Given the description of an element on the screen output the (x, y) to click on. 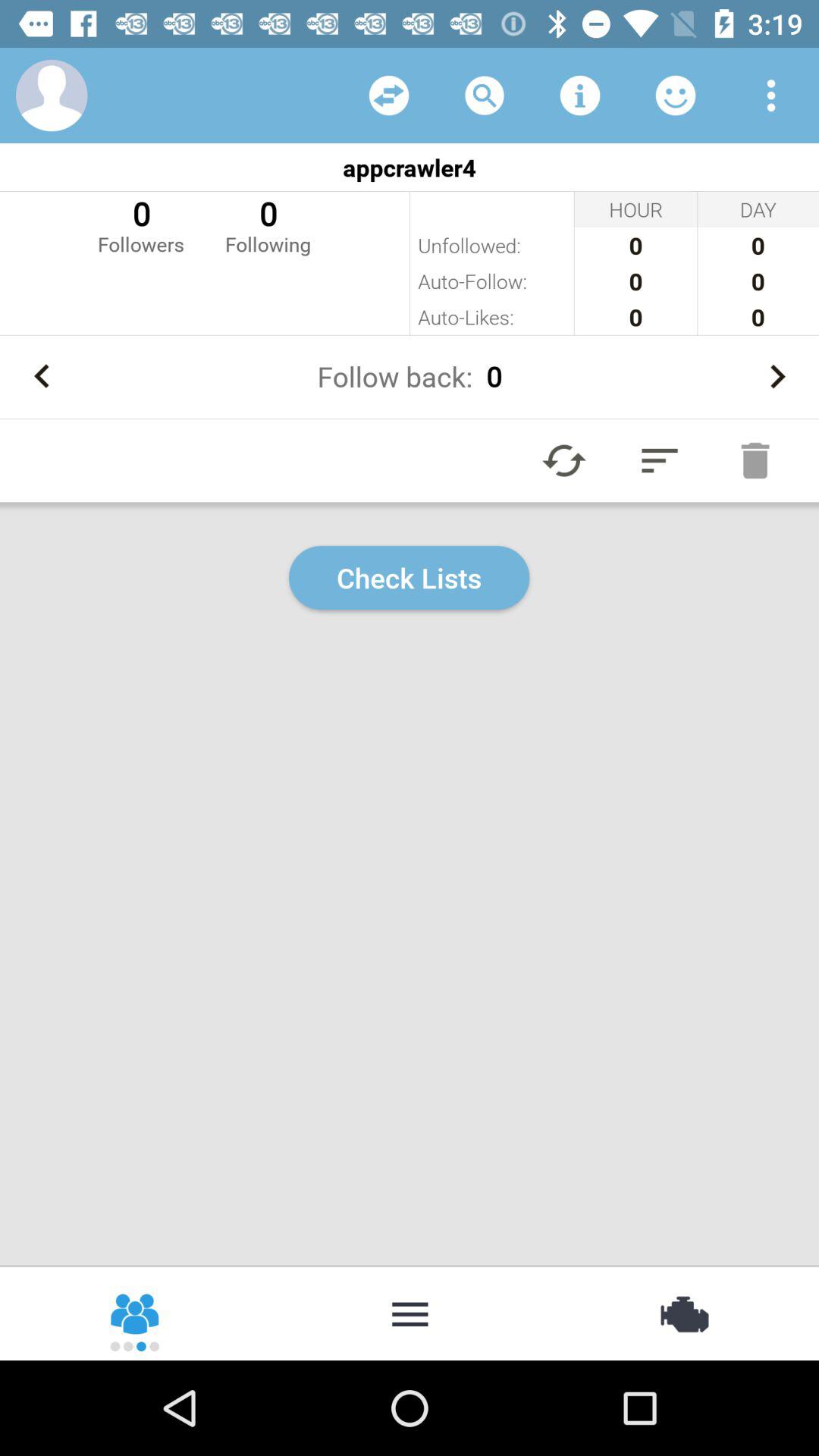
tap the item next to follow back:  0 (41, 376)
